Given the description of an element on the screen output the (x, y) to click on. 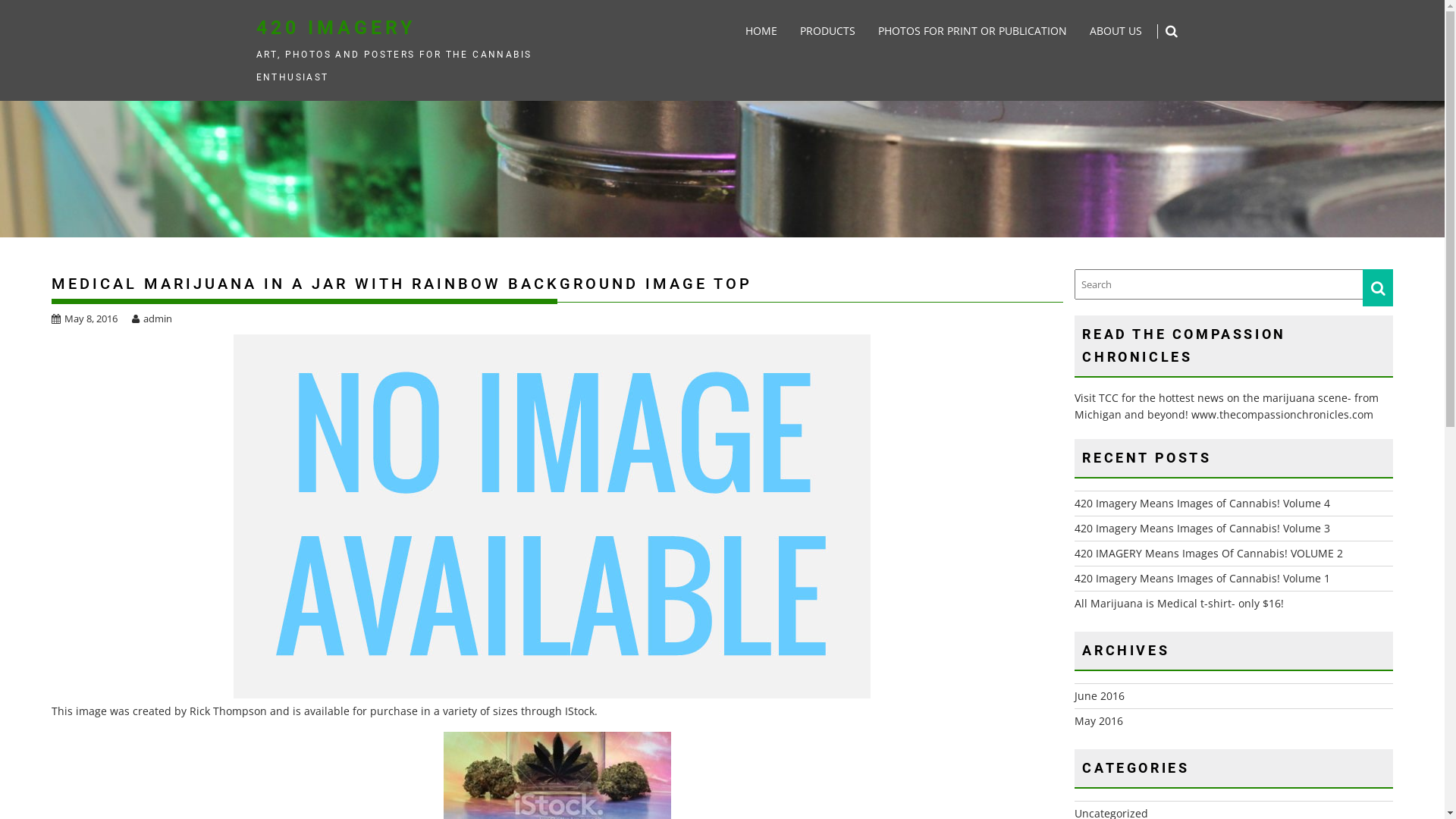
All Marijuana is Medical t-shirt- only $16! Element type: text (1178, 603)
Skip to content Element type: text (0, 0)
420 IMAGERY Means Images Of Cannabis! VOLUME 2 Element type: text (1208, 553)
420 IMAGERY Element type: text (335, 27)
420 Imagery Means Images of Cannabis! Volume 4 Element type: text (1202, 502)
Medical marijuana in a jar with rainbow background image top Element type: hover (551, 516)
June 2016 Element type: text (1099, 695)
May 2016 Element type: text (1098, 720)
PHOTOS FOR PRINT OR PUBLICATION Element type: text (971, 30)
PRODUCTS Element type: text (827, 30)
420 Imagery Means Images of Cannabis! Volume 1 Element type: text (1202, 578)
HOME Element type: text (761, 30)
admin Element type: text (151, 318)
420 Imagery Means Images of Cannabis! Volume 3 Element type: text (1202, 527)
May 8, 2016 Element type: text (84, 318)
ABOUT US Element type: text (1115, 30)
